Given the description of an element on the screen output the (x, y) to click on. 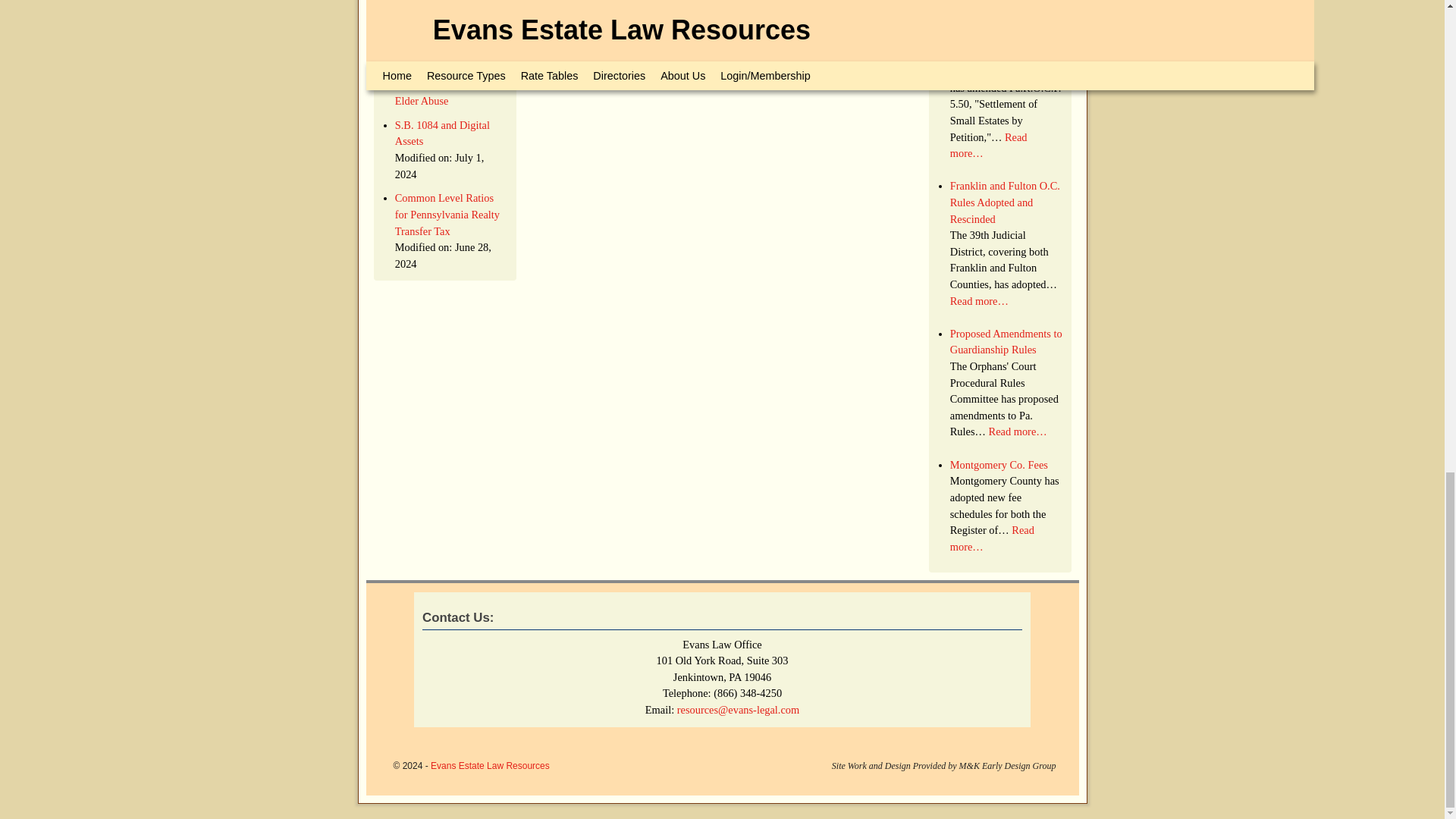
Evans Estate Law Resources (490, 765)
